Given the description of an element on the screen output the (x, y) to click on. 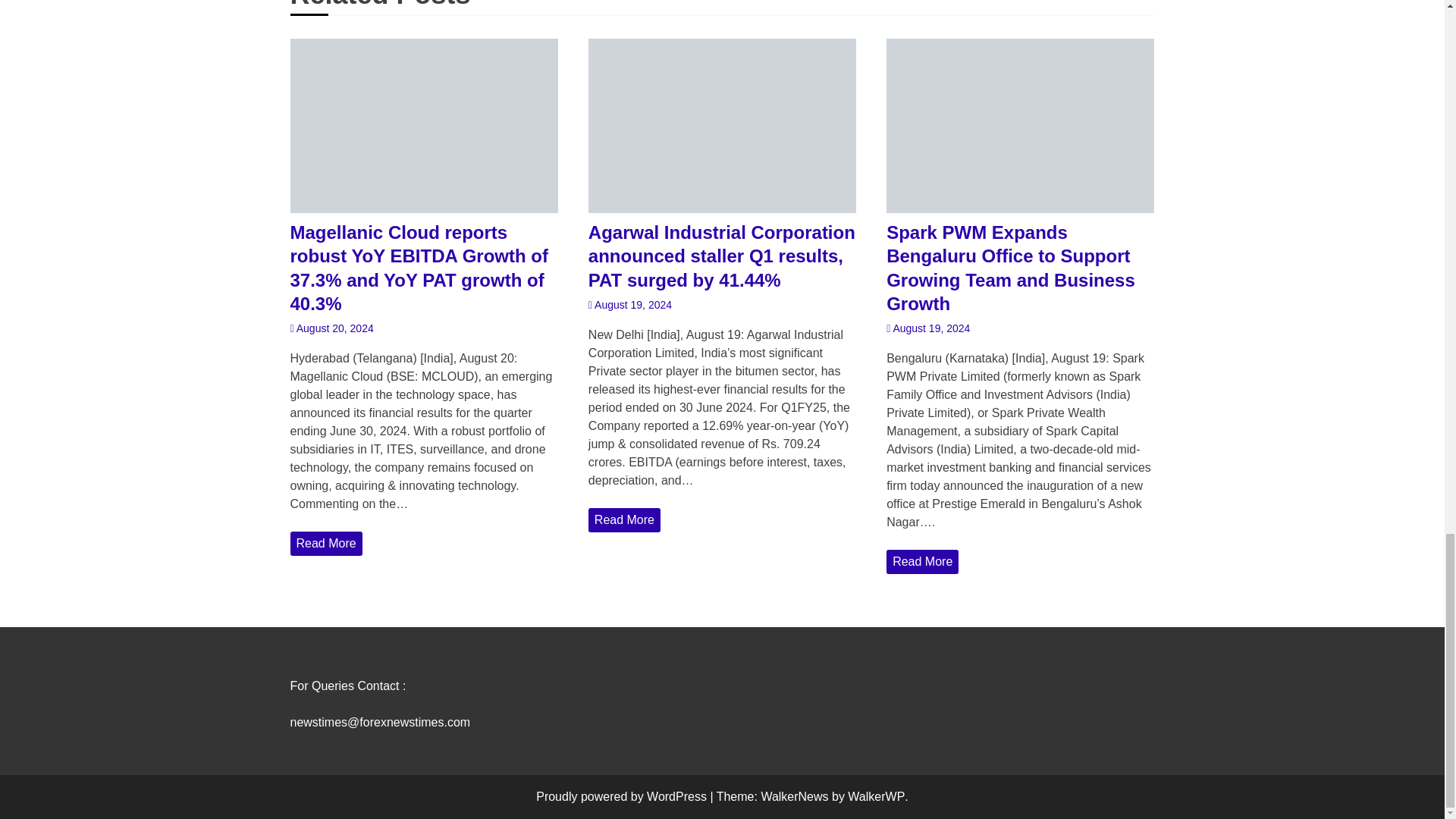
August 19, 2024 (629, 304)
Read More (624, 519)
August 19, 2024 (927, 328)
Read More (922, 561)
Read More (325, 543)
August 20, 2024 (330, 328)
